Given the description of an element on the screen output the (x, y) to click on. 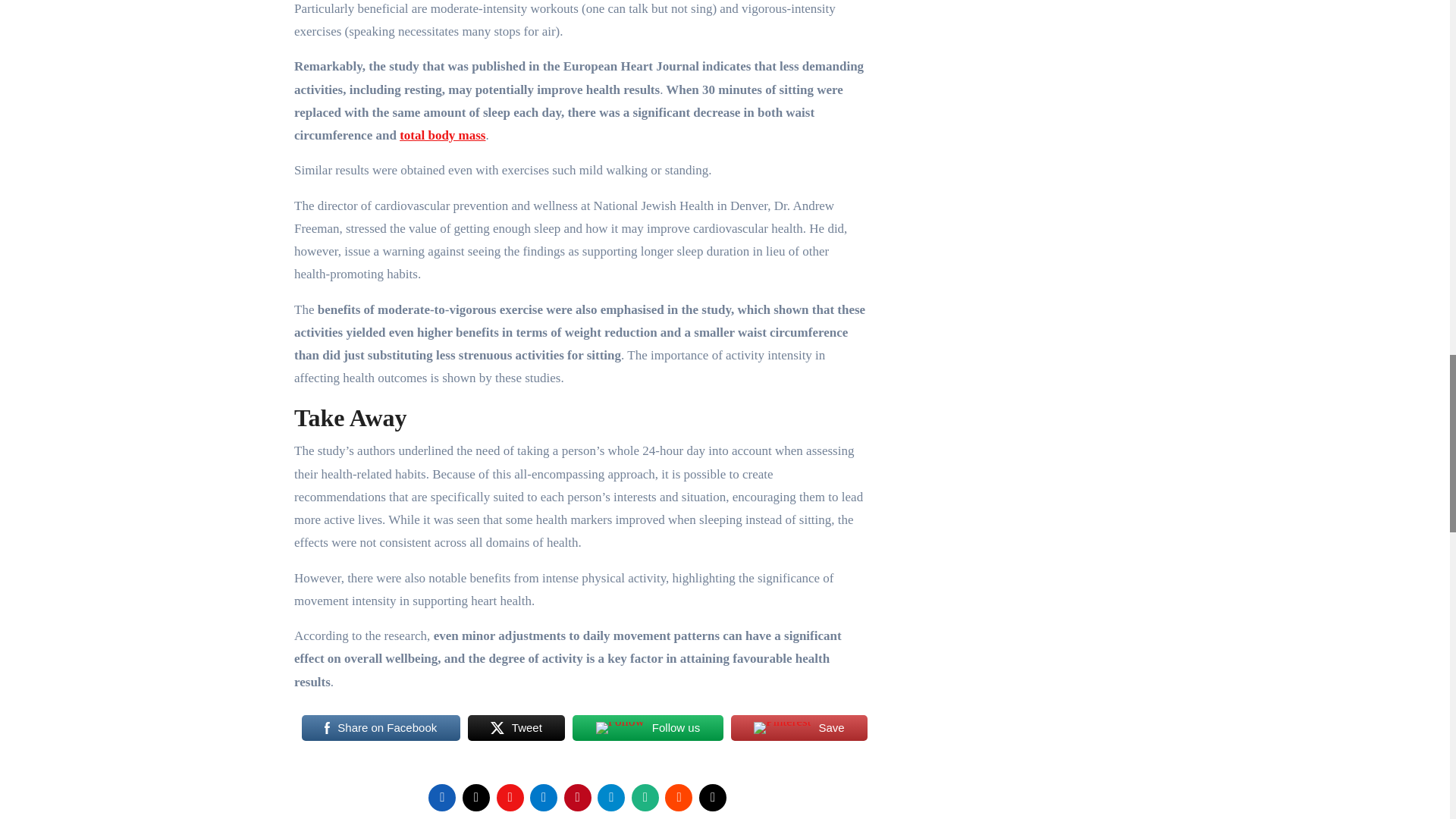
Share on Facebook (380, 727)
Save (798, 727)
Follow us (647, 727)
total body mass (441, 134)
Tweet (516, 727)
